Given the description of an element on the screen output the (x, y) to click on. 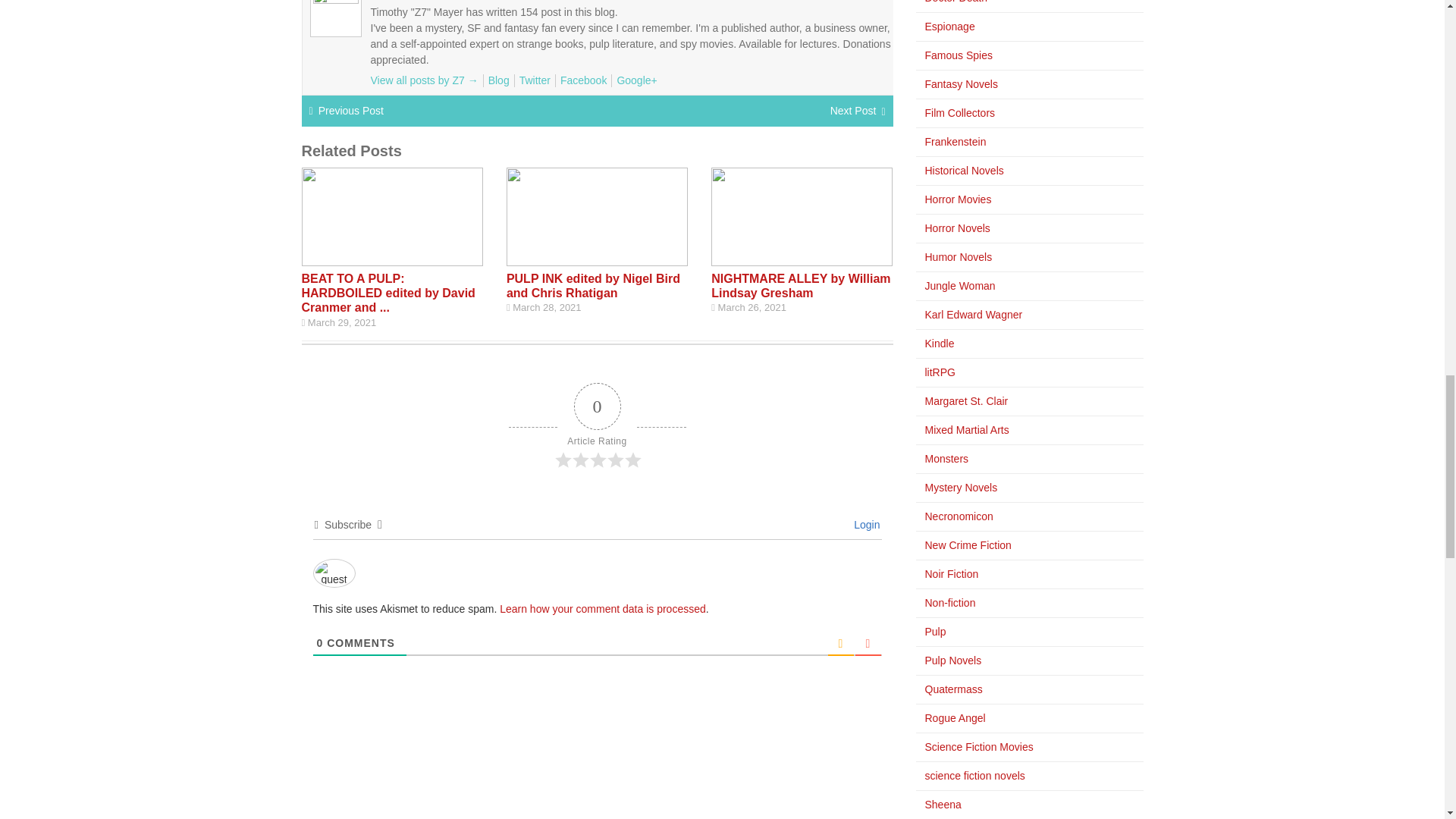
Login (863, 524)
Twitter (534, 80)
PULP INK edited by Nigel Bird and Chris Rhatigan (592, 285)
Facebook (583, 80)
Blog (498, 80)
NIGHTMARE ALLEY by William Lindsay Gresham (800, 285)
Follow Z7 on Twitter (534, 80)
Add Z7 in your circle (635, 80)
Next Post (852, 110)
BEAT TO A PULP: HARDBOILED edited by David Cranmer and ... (388, 292)
Previous Post (351, 110)
